Given the description of an element on the screen output the (x, y) to click on. 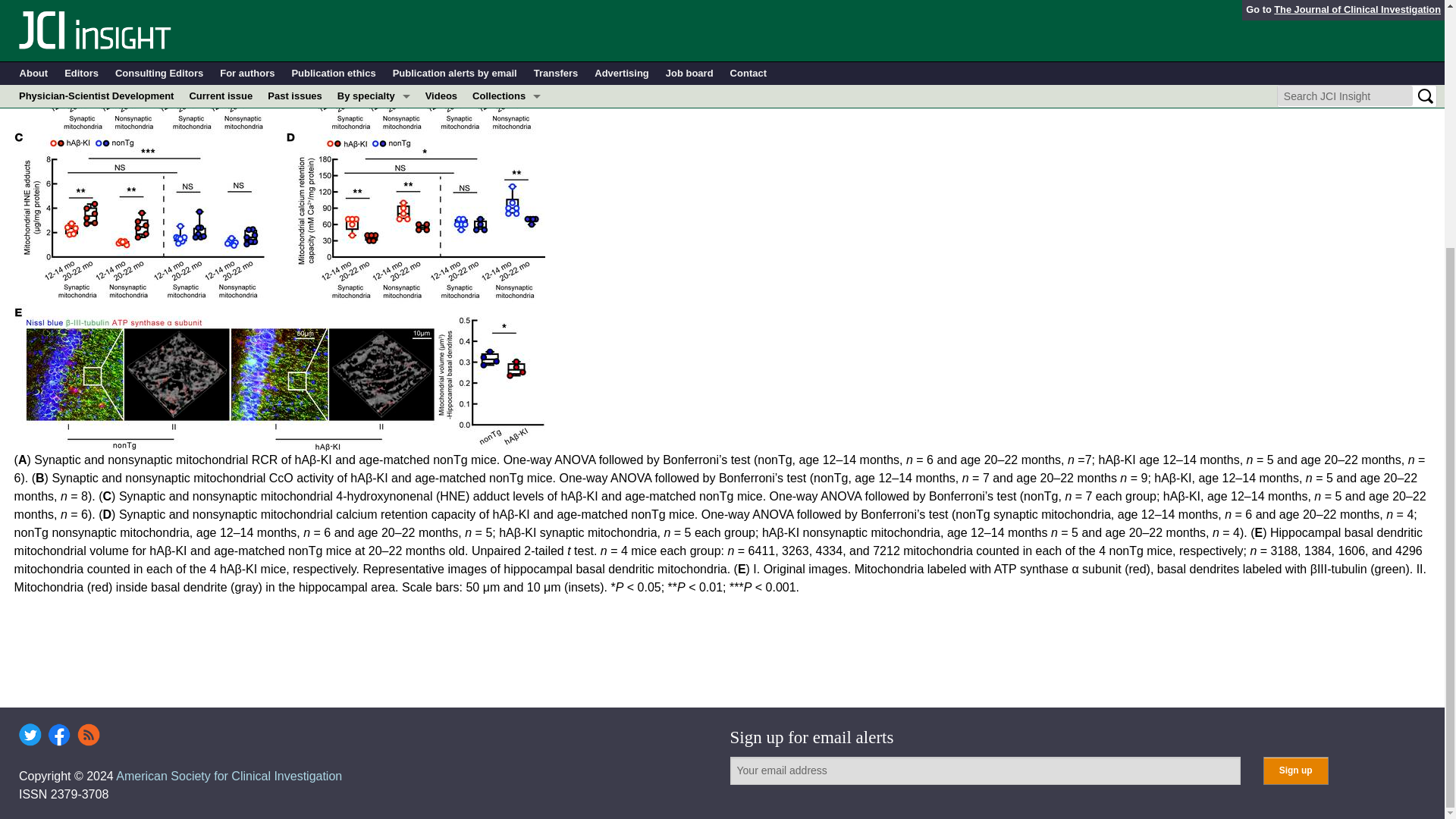
RSS (88, 734)
Twitter (30, 734)
Sign up (1295, 770)
Facebook (58, 734)
